Given the description of an element on the screen output the (x, y) to click on. 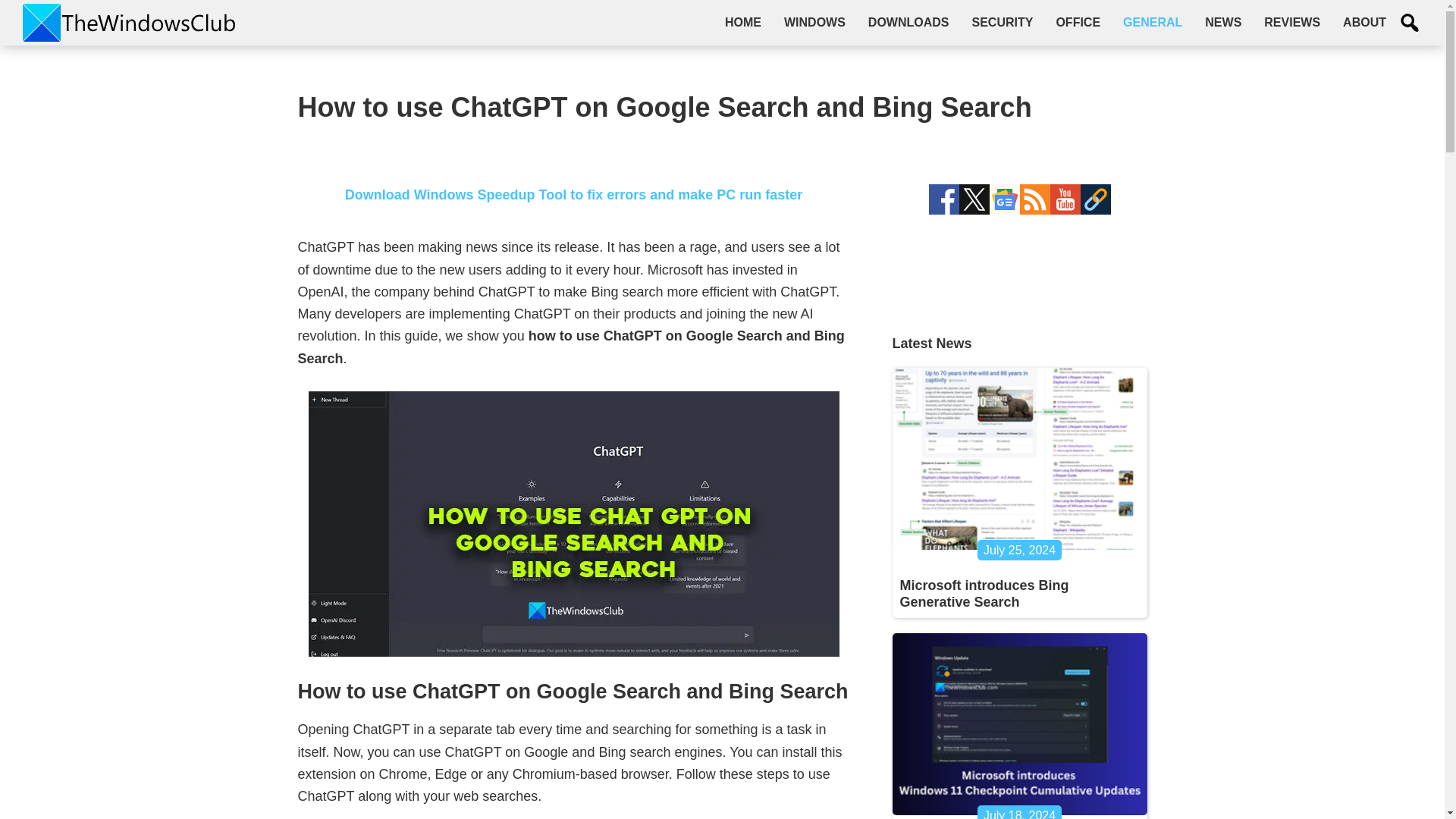
DOWNLOADS (908, 22)
GENERAL (1152, 22)
WINDOWS (815, 22)
ABOUT (1364, 22)
REVIEWS (1292, 22)
NEWS (1222, 22)
HOME (743, 22)
SECURITY (1001, 22)
Show Search (1409, 22)
OFFICE (1077, 22)
